Given the description of an element on the screen output the (x, y) to click on. 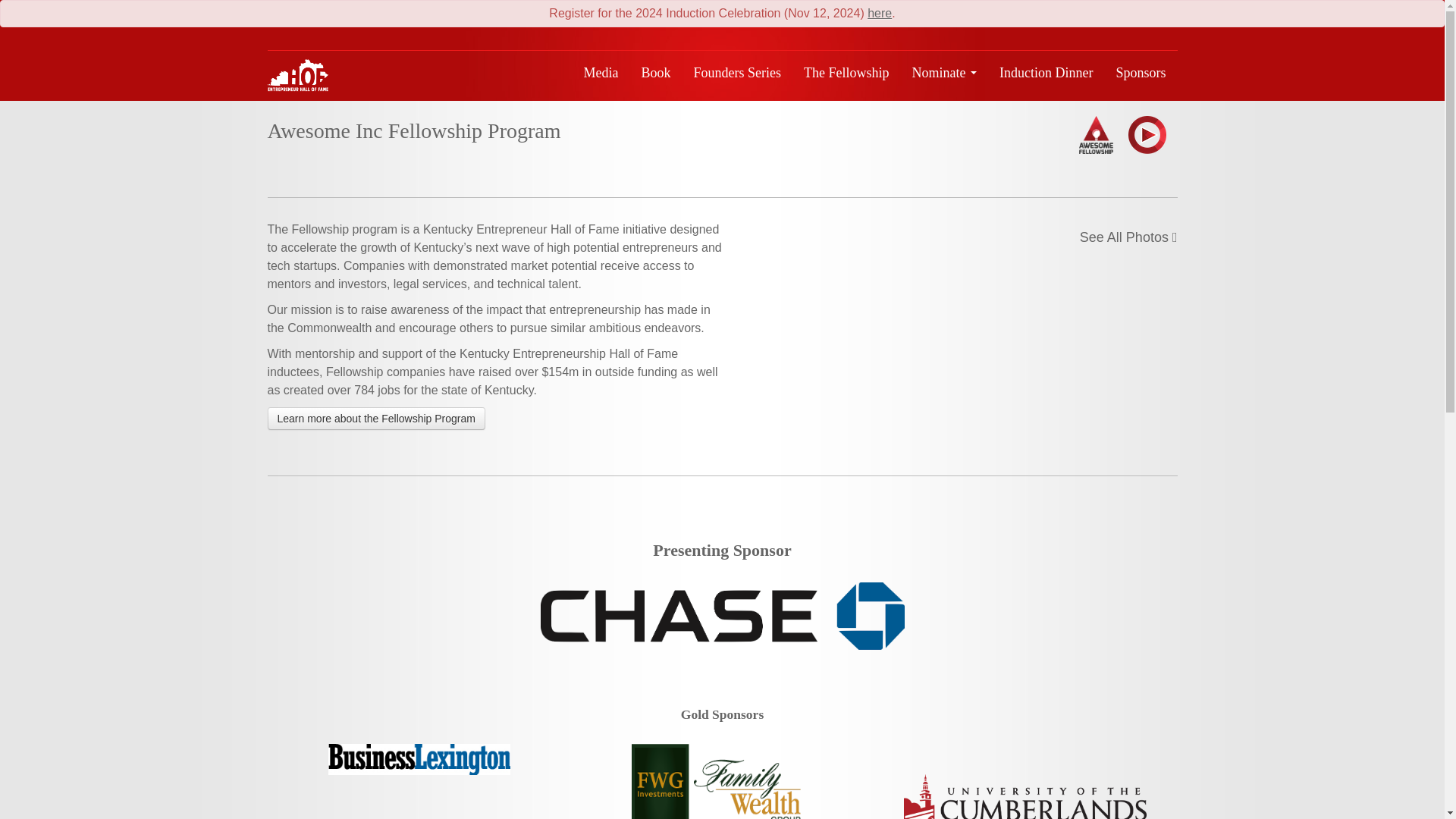
The Fellowship (846, 72)
Induction Dinner (1045, 72)
here (879, 12)
Sponsors (1139, 72)
Nominate (944, 72)
Founders Series (737, 72)
See All Photos (1128, 237)
Book (656, 72)
Learn more about the Fellowship Program (375, 418)
Media (601, 72)
